Given the description of an element on the screen output the (x, y) to click on. 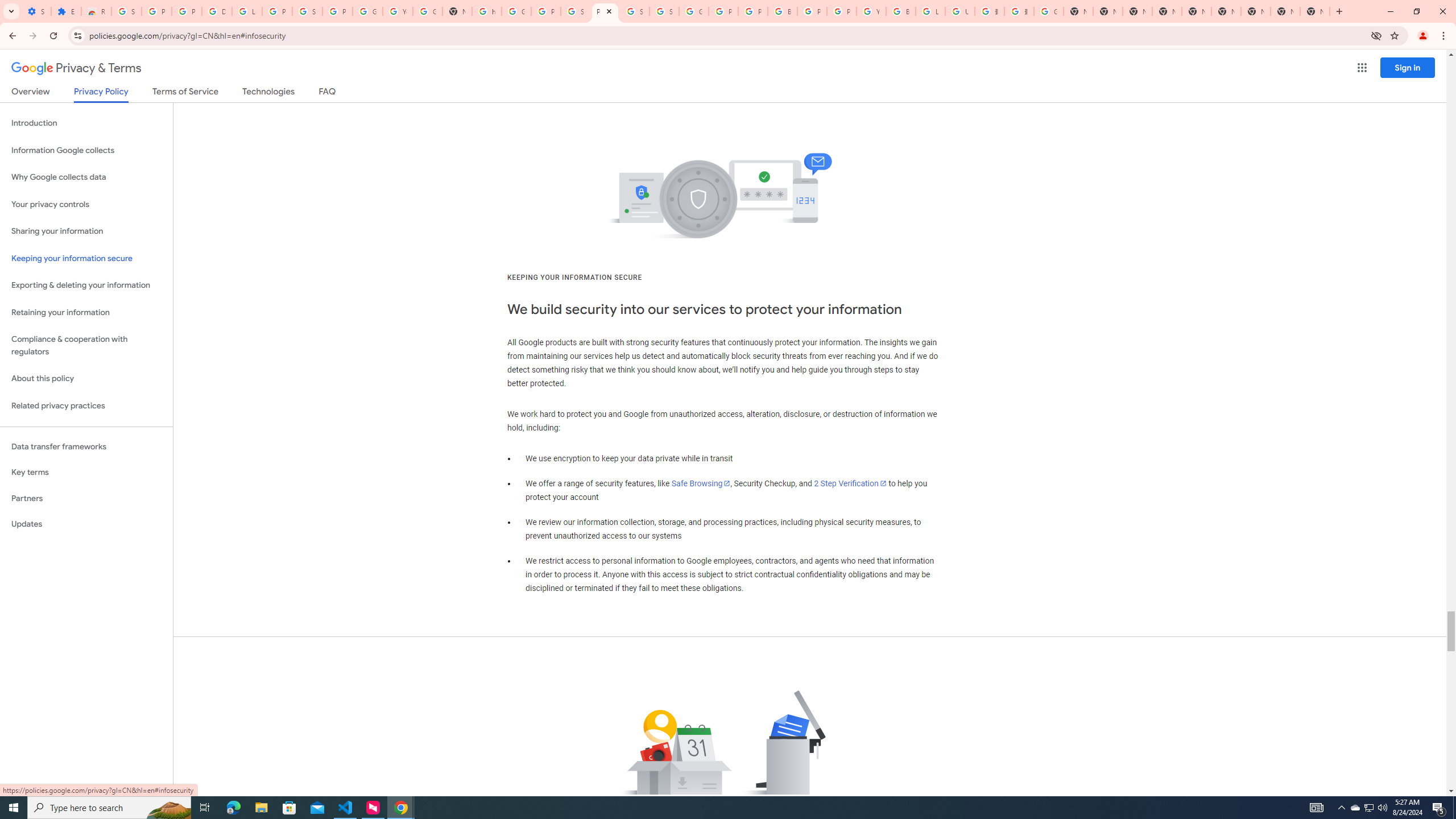
Privacy Help Center - Policies Help (723, 11)
Delete photos & videos - Computer - Google Photos Help (216, 11)
New Tab (1166, 11)
